Given the description of an element on the screen output the (x, y) to click on. 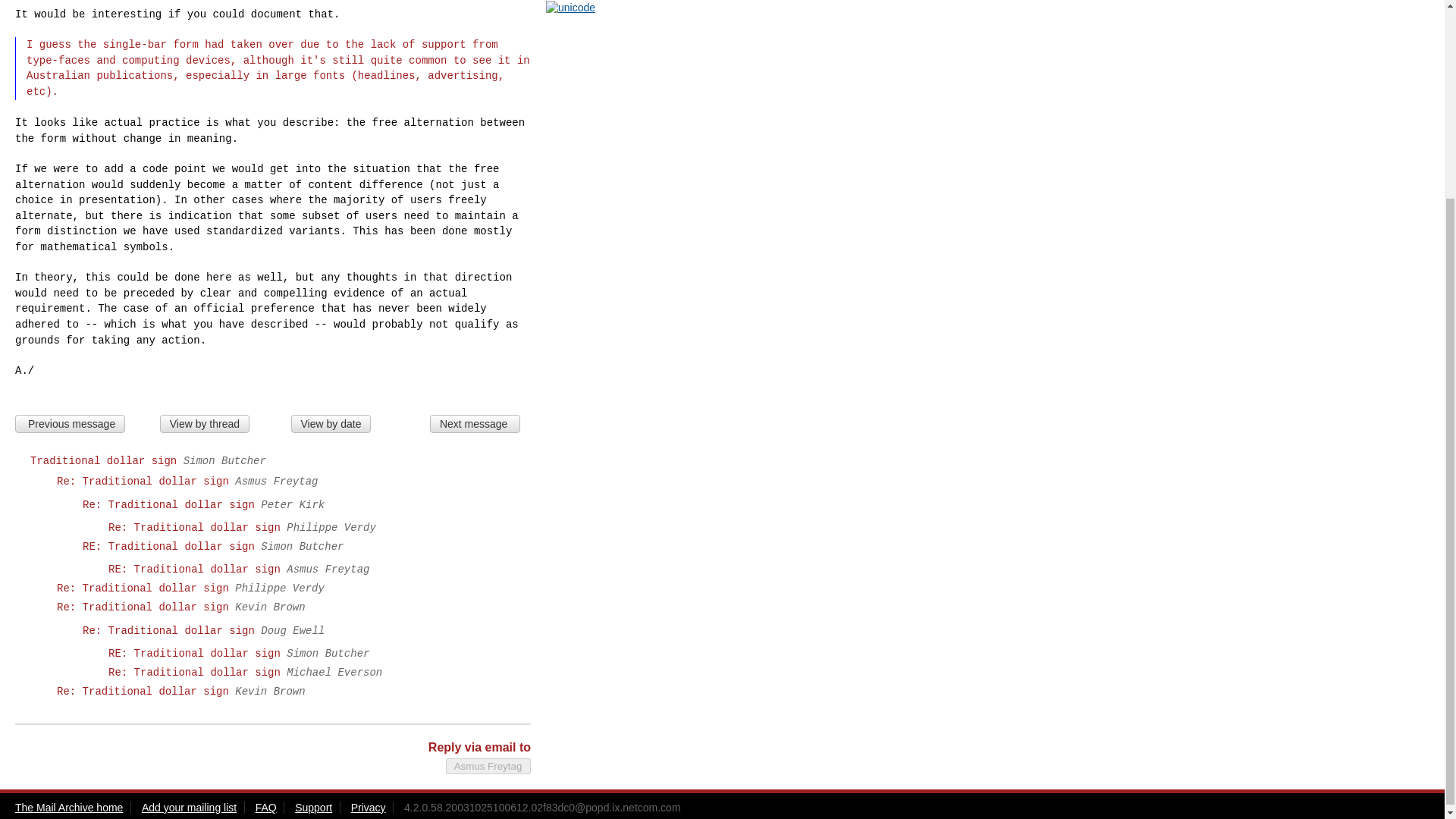
FAQ (266, 807)
Support (313, 807)
Re: Traditional dollar sign (168, 503)
View by thread (204, 423)
RE: Traditional dollar sign (168, 546)
Privacy (367, 807)
Re: Traditional dollar sign (142, 481)
Re: Traditional dollar sign (194, 527)
Add your mailing list (188, 807)
Re: Traditional dollar sign (168, 630)
Previous message (69, 423)
RE: Traditional dollar sign (194, 653)
Re: Traditional dollar sign (142, 607)
 Asmus Freytag  (488, 765)
Next message (474, 423)
